Given the description of an element on the screen output the (x, y) to click on. 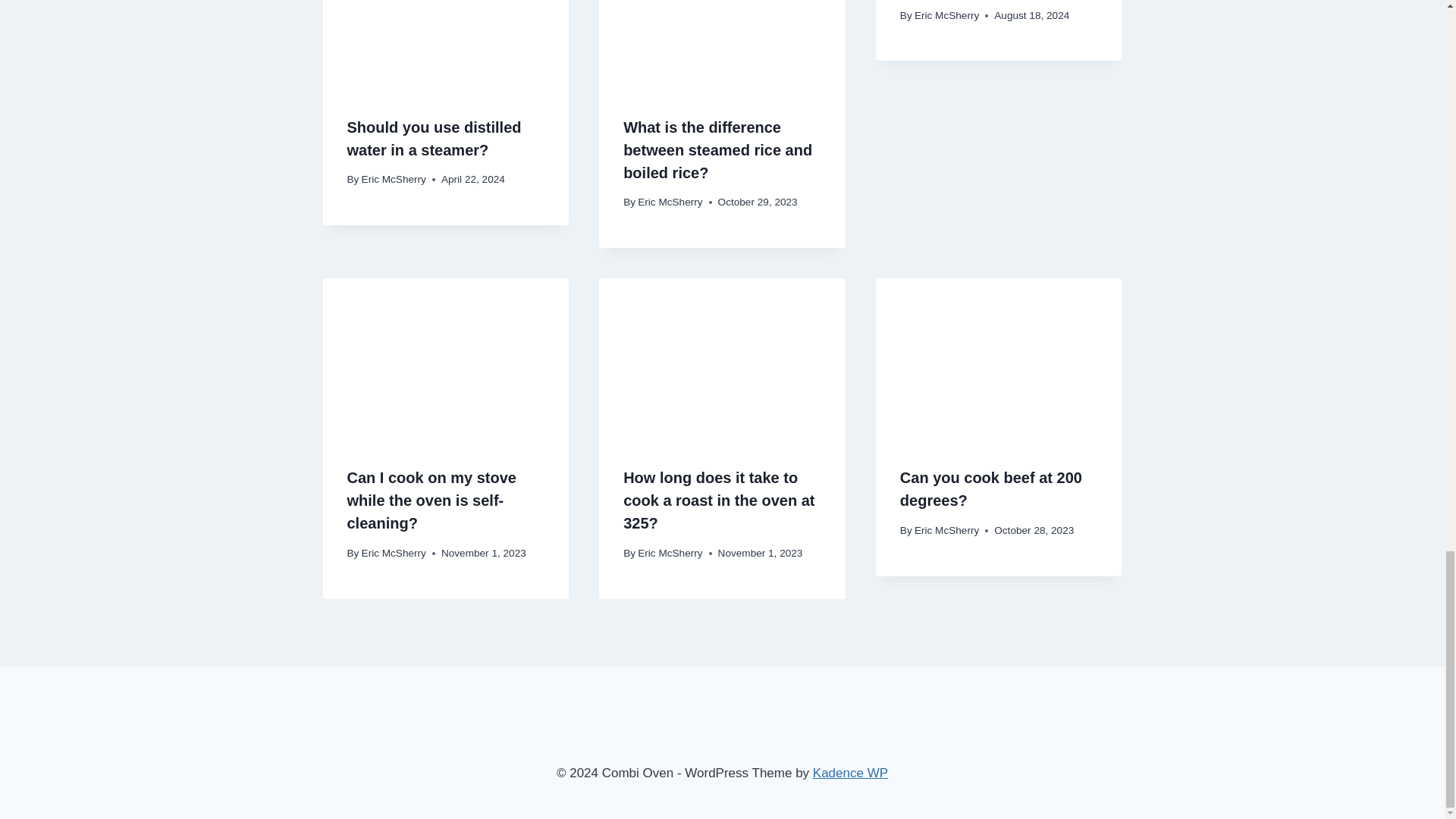
Eric McSherry (946, 15)
Can I cook on my stove while the oven is self-cleaning? (431, 500)
Eric McSherry (669, 202)
Eric McSherry (393, 552)
Should you use distilled water in a steamer? (434, 138)
What is the difference between steamed rice and boiled rice? (717, 149)
Eric McSherry (393, 179)
